Given the description of an element on the screen output the (x, y) to click on. 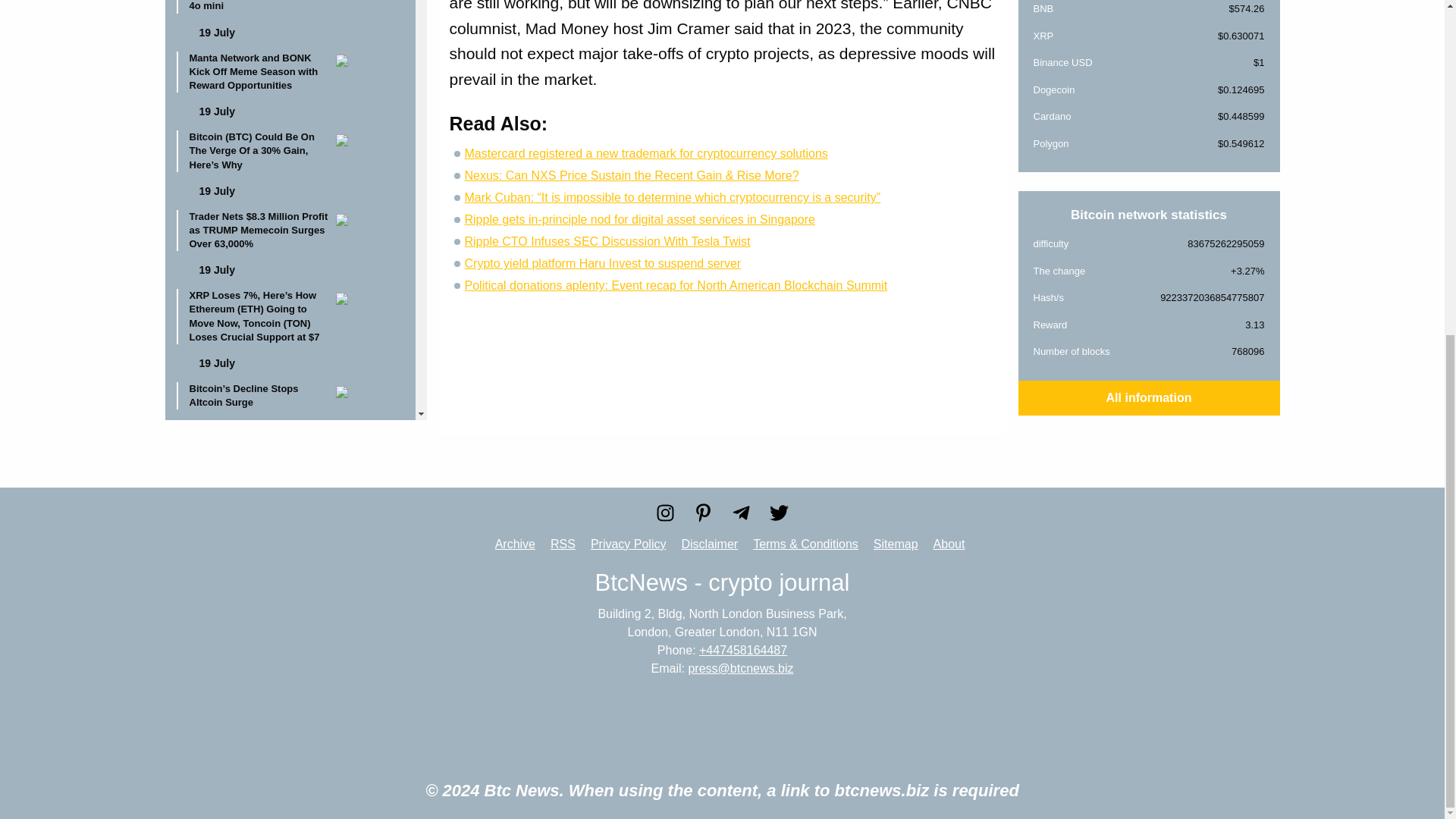
Ripple CTO Infuses SEC Discussion With Tesla Twist (606, 241)
Crypto yield platform Haru Invest to suspend server (602, 263)
